Given the description of an element on the screen output the (x, y) to click on. 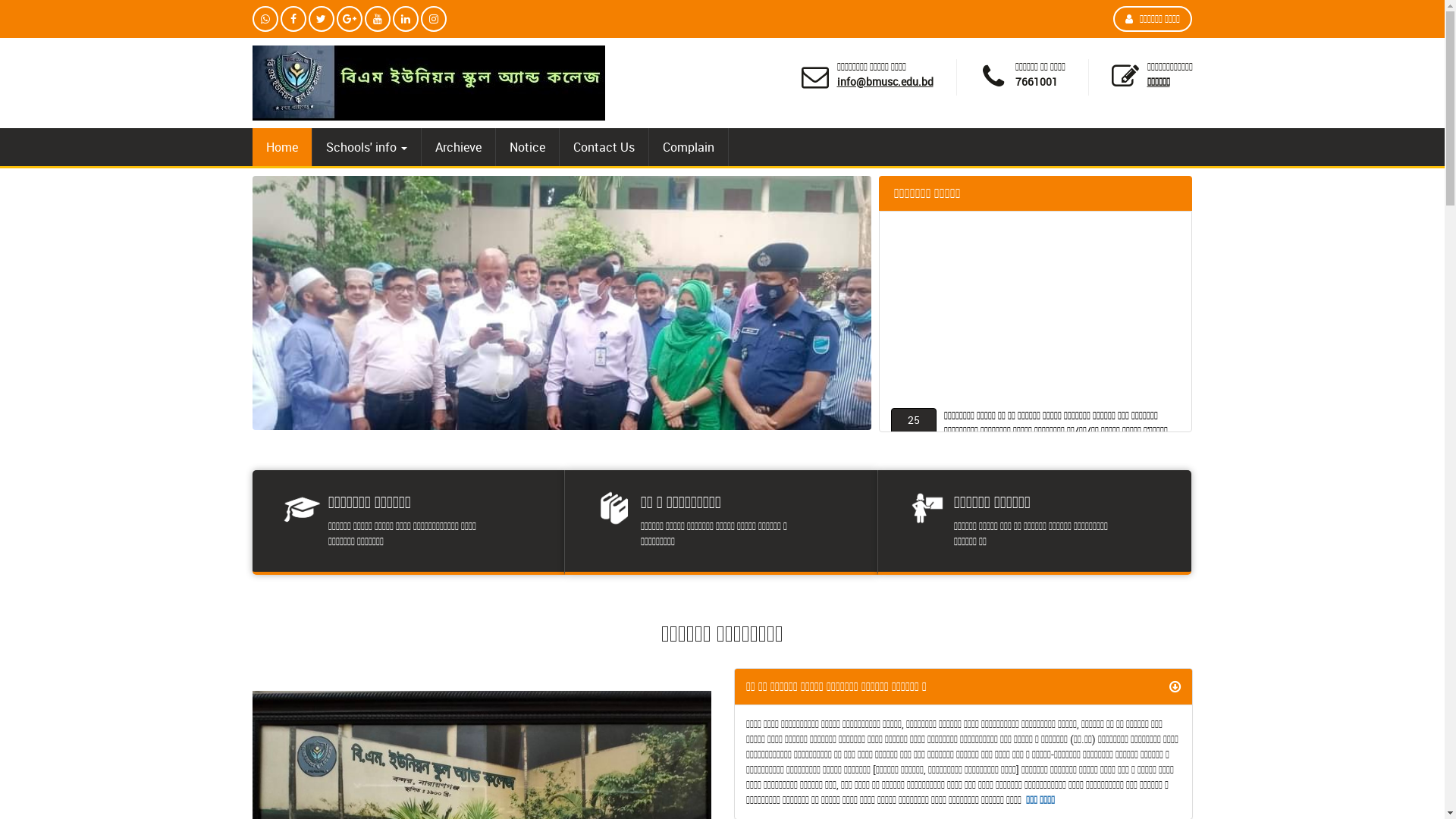
Archieve Element type: text (458, 147)
Home Element type: text (280, 147)
Notice Element type: text (526, 147)
Complain Element type: text (688, 147)
info@bmusc.edu.bd Element type: text (885, 81)
Schools' info Element type: text (366, 147)
Contact Us Element type: text (603, 147)
